Given the description of an element on the screen output the (x, y) to click on. 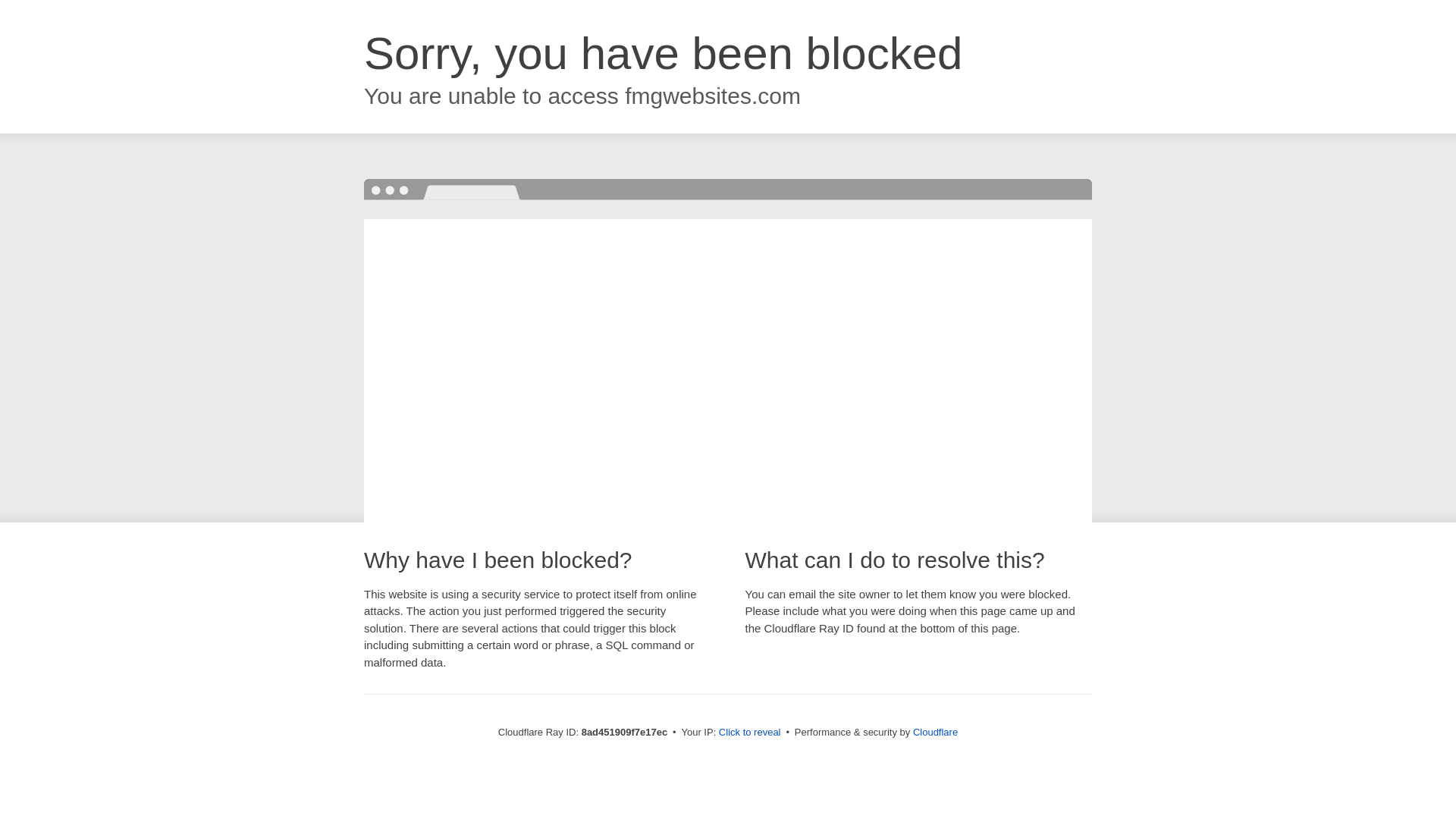
Cloudflare (935, 731)
Click to reveal (749, 732)
